Given the description of an element on the screen output the (x, y) to click on. 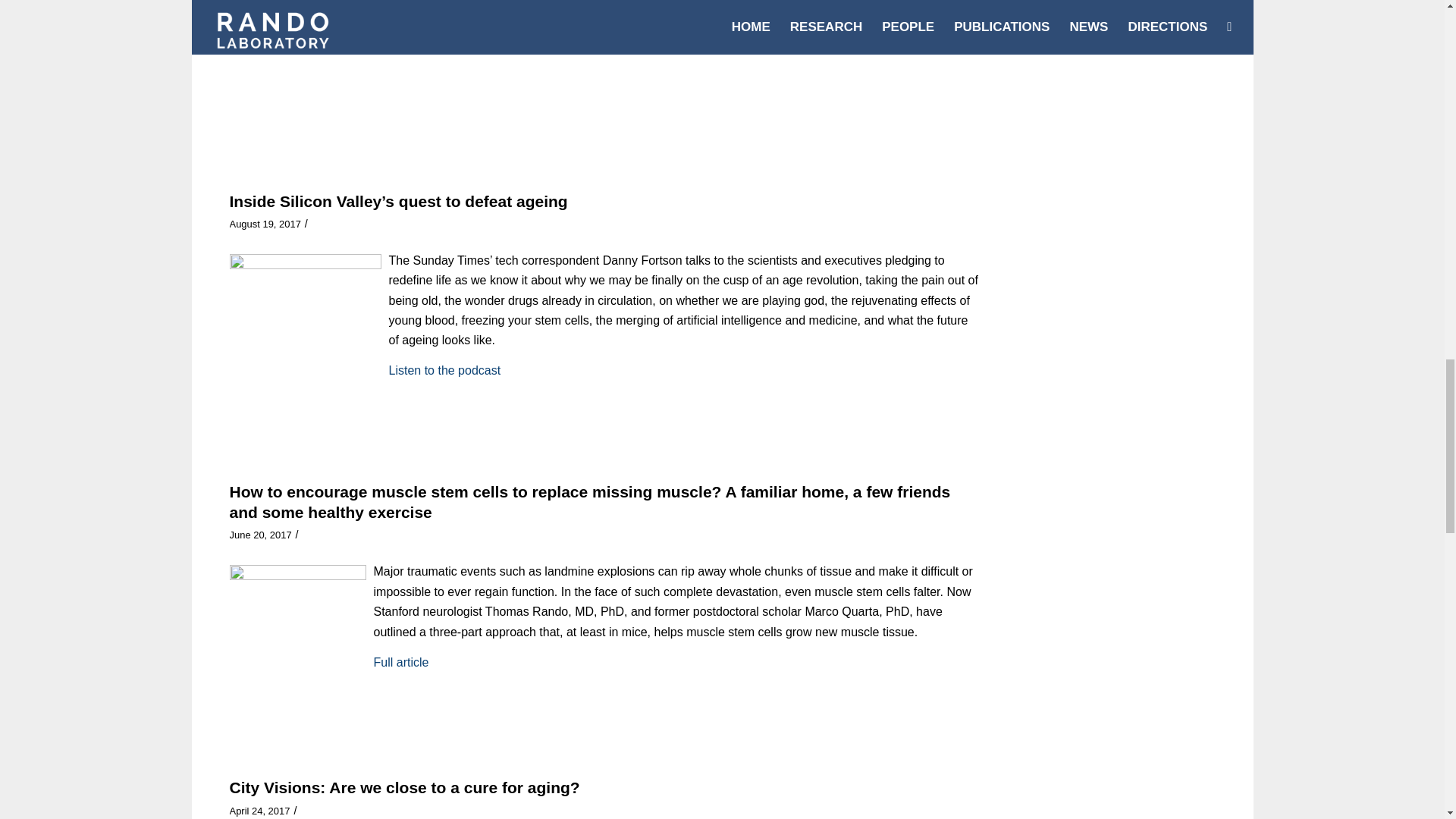
Full article (400, 34)
